Given the description of an element on the screen output the (x, y) to click on. 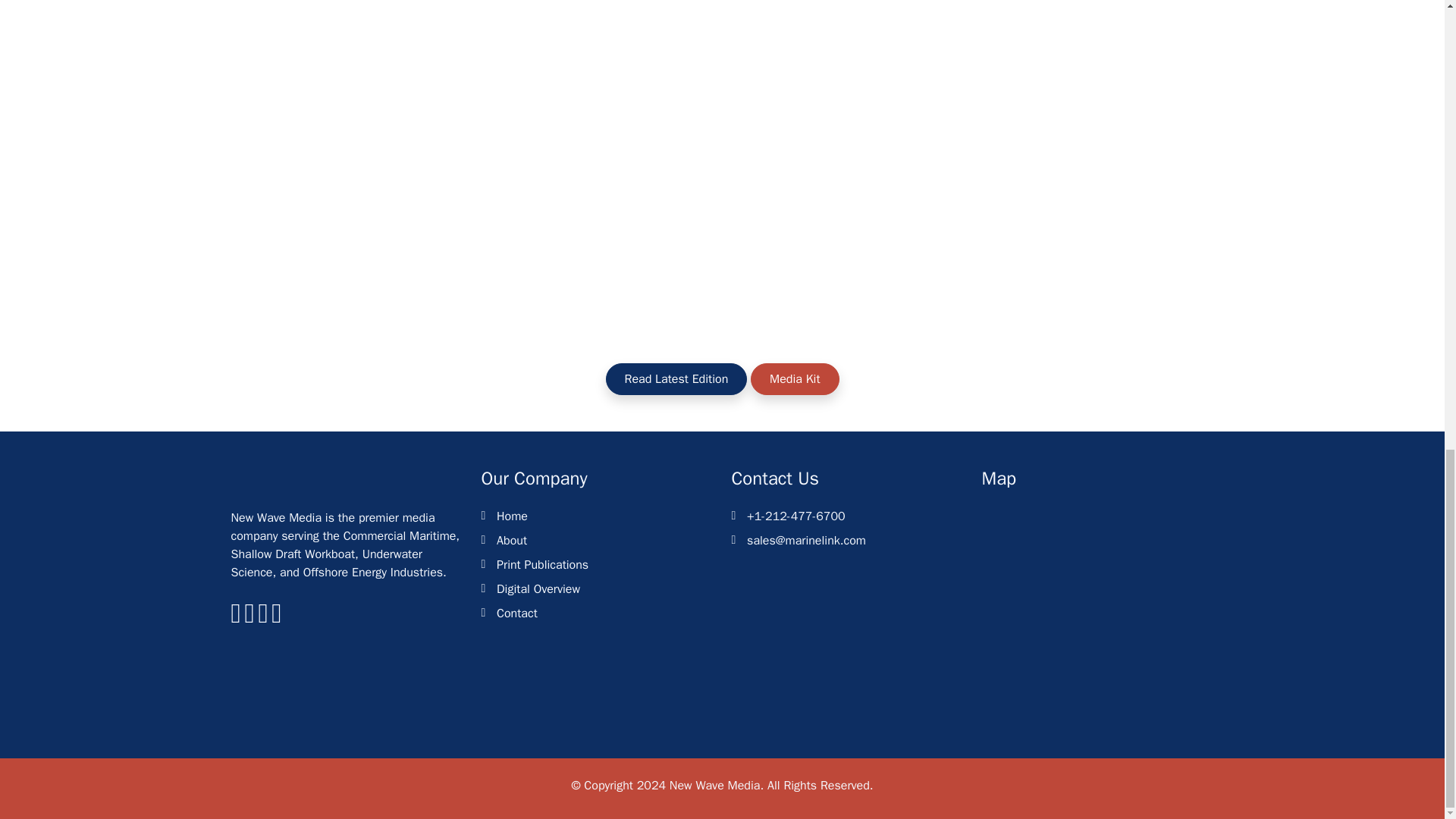
Media Kit (794, 378)
Digital Overview (537, 588)
Contact (516, 613)
Home (511, 516)
About (511, 540)
Print Publications (542, 564)
Read Latest Edition (675, 378)
